Given the description of an element on the screen output the (x, y) to click on. 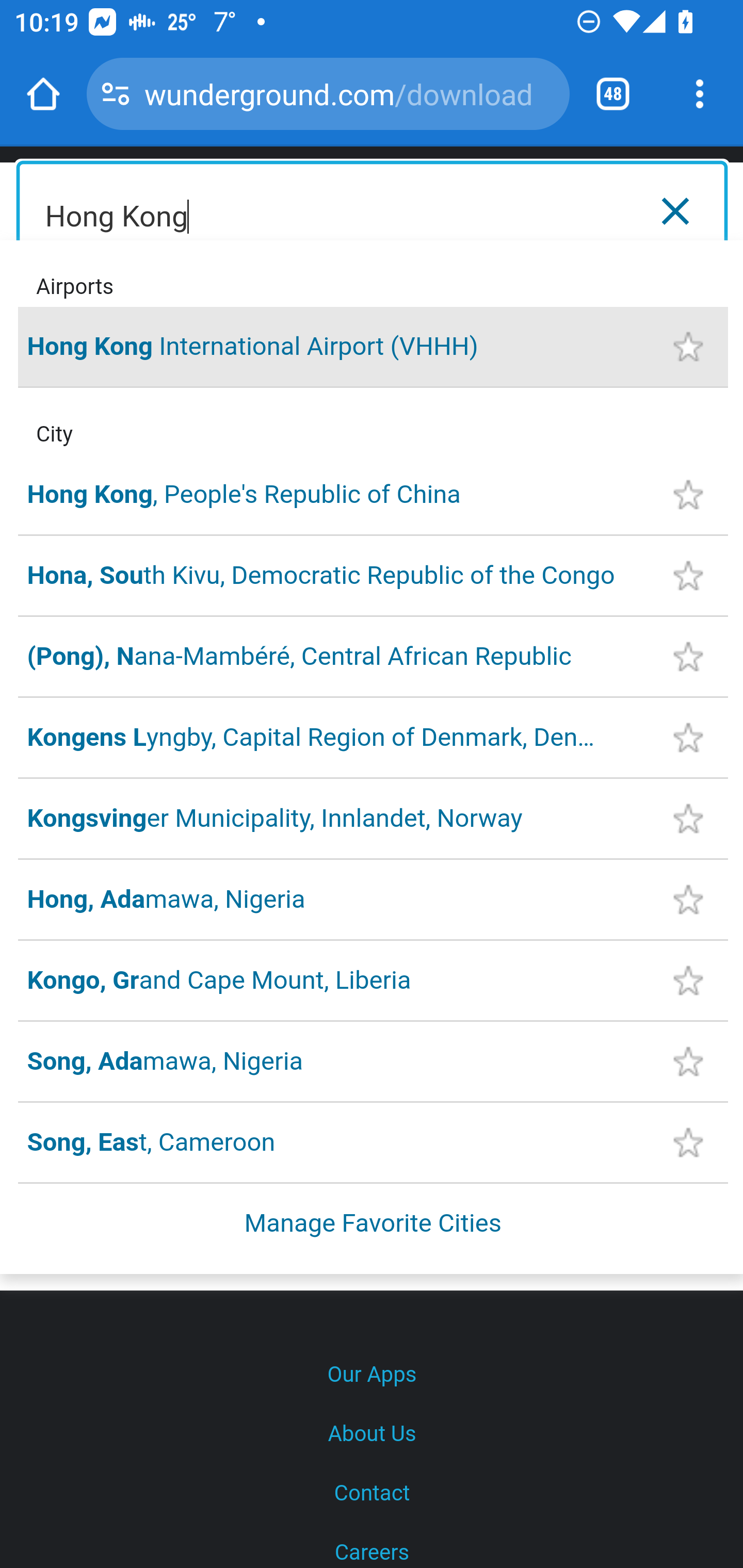
Open the home page (43, 93)
Connection is secure (115, 93)
Switch or close tabs (612, 93)
Customize and control Google Chrome (699, 93)
wunderground.com/download (349, 92)
Hong Kong (372, 211)
Menu (695, 208)
Manage Favorite Cities (373, 1222)
Our Apps (371, 1374)
About Us (371, 1434)
Contact (371, 1494)
Careers (371, 1546)
